Given the description of an element on the screen output the (x, y) to click on. 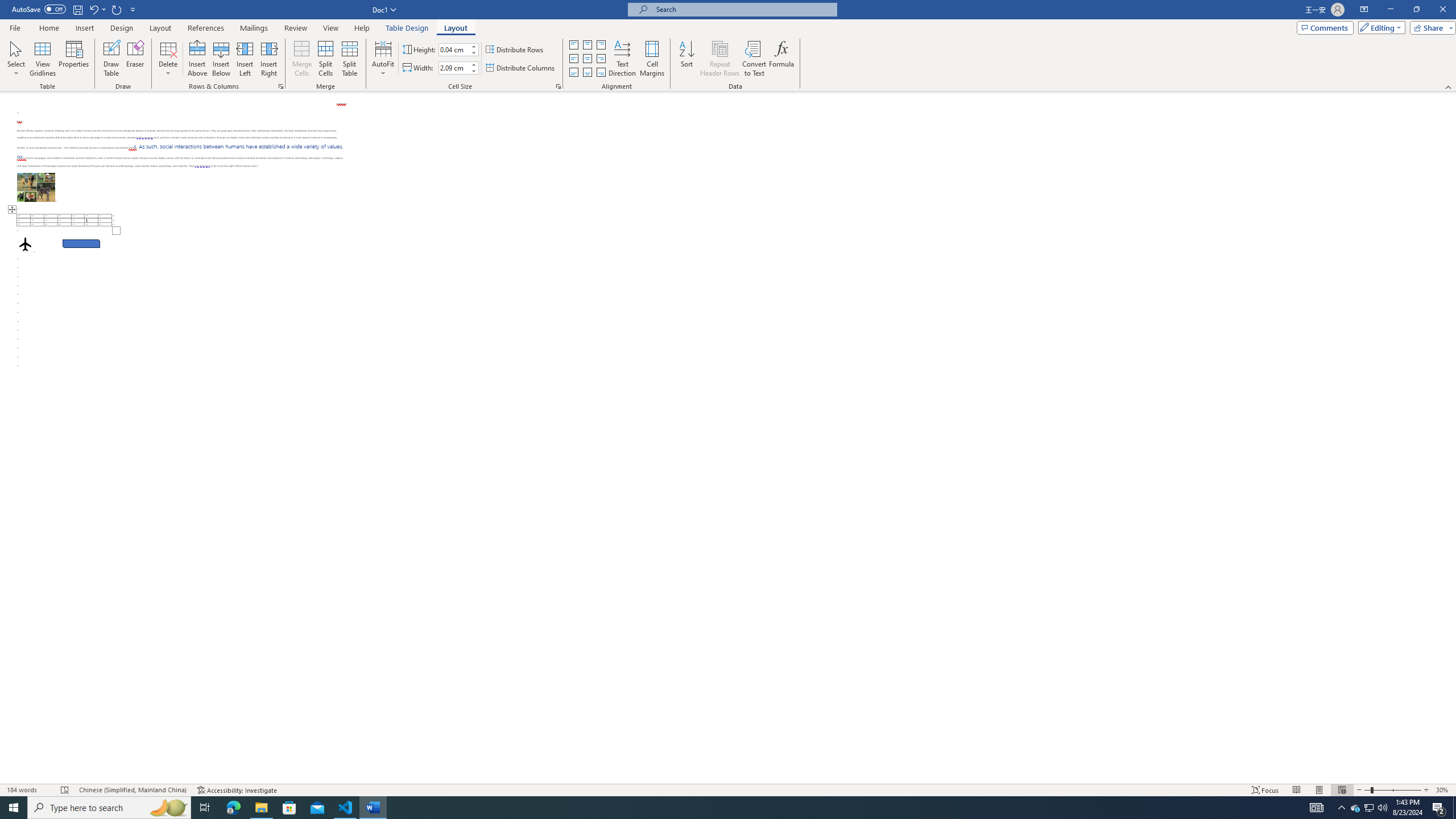
Insert Left (244, 58)
Align Bottom Justified (573, 72)
Cell Margins... (652, 58)
More (473, 64)
Airplane with solid fill (25, 243)
Align Top Justified (573, 44)
Eraser (135, 58)
Spelling and Grammar Check Errors (65, 790)
